Given the description of an element on the screen output the (x, y) to click on. 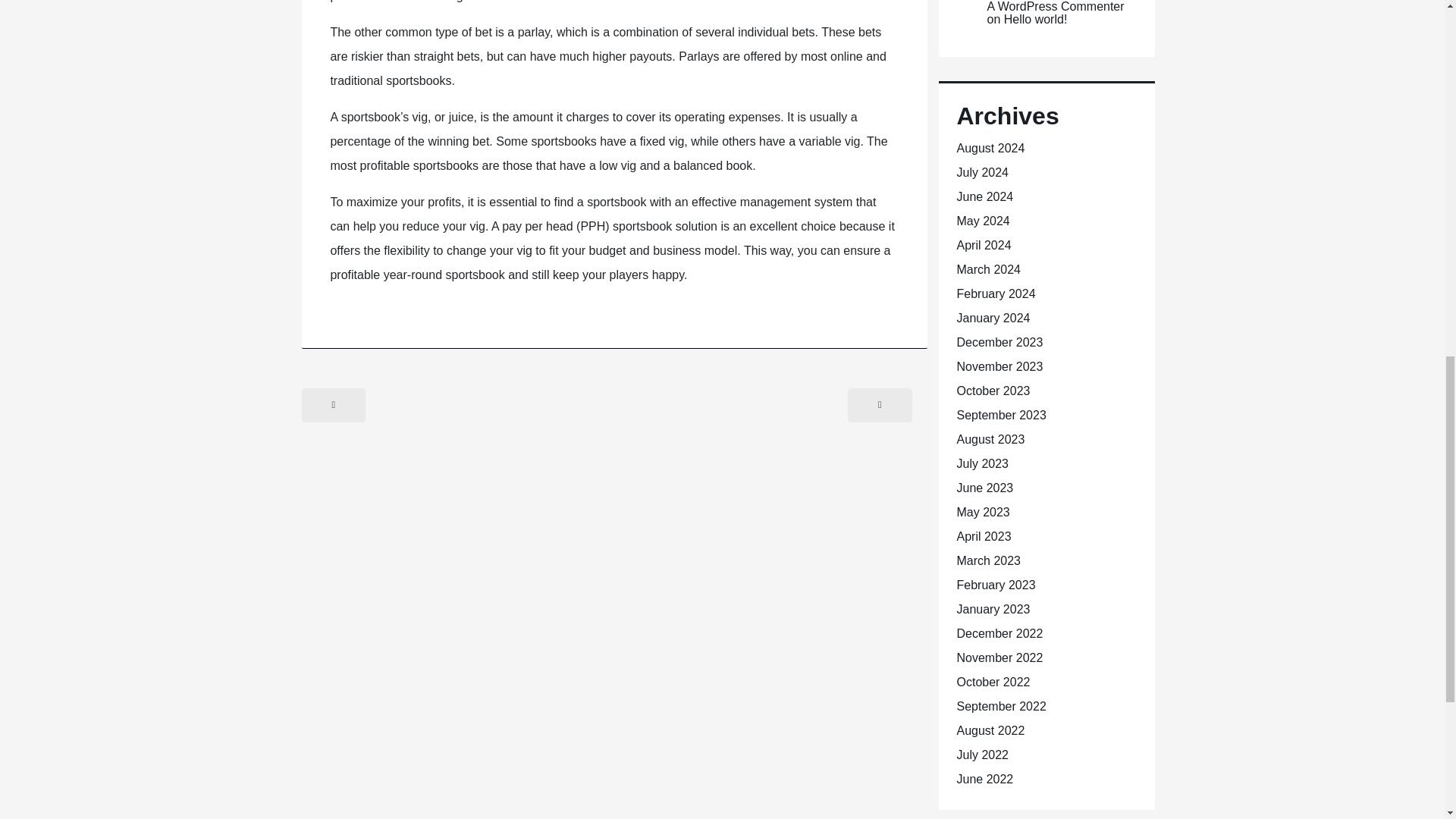
March 2024 (989, 269)
October 2022 (993, 681)
February 2024 (995, 293)
May 2024 (983, 220)
October 2023 (993, 390)
June 2023 (984, 487)
August 2022 (990, 730)
November 2022 (999, 657)
April 2024 (983, 245)
February 2023 (995, 584)
A WordPress Commenter (1055, 6)
May 2023 (983, 512)
July 2023 (982, 463)
March 2023 (989, 560)
September 2022 (1001, 706)
